Given the description of an element on the screen output the (x, y) to click on. 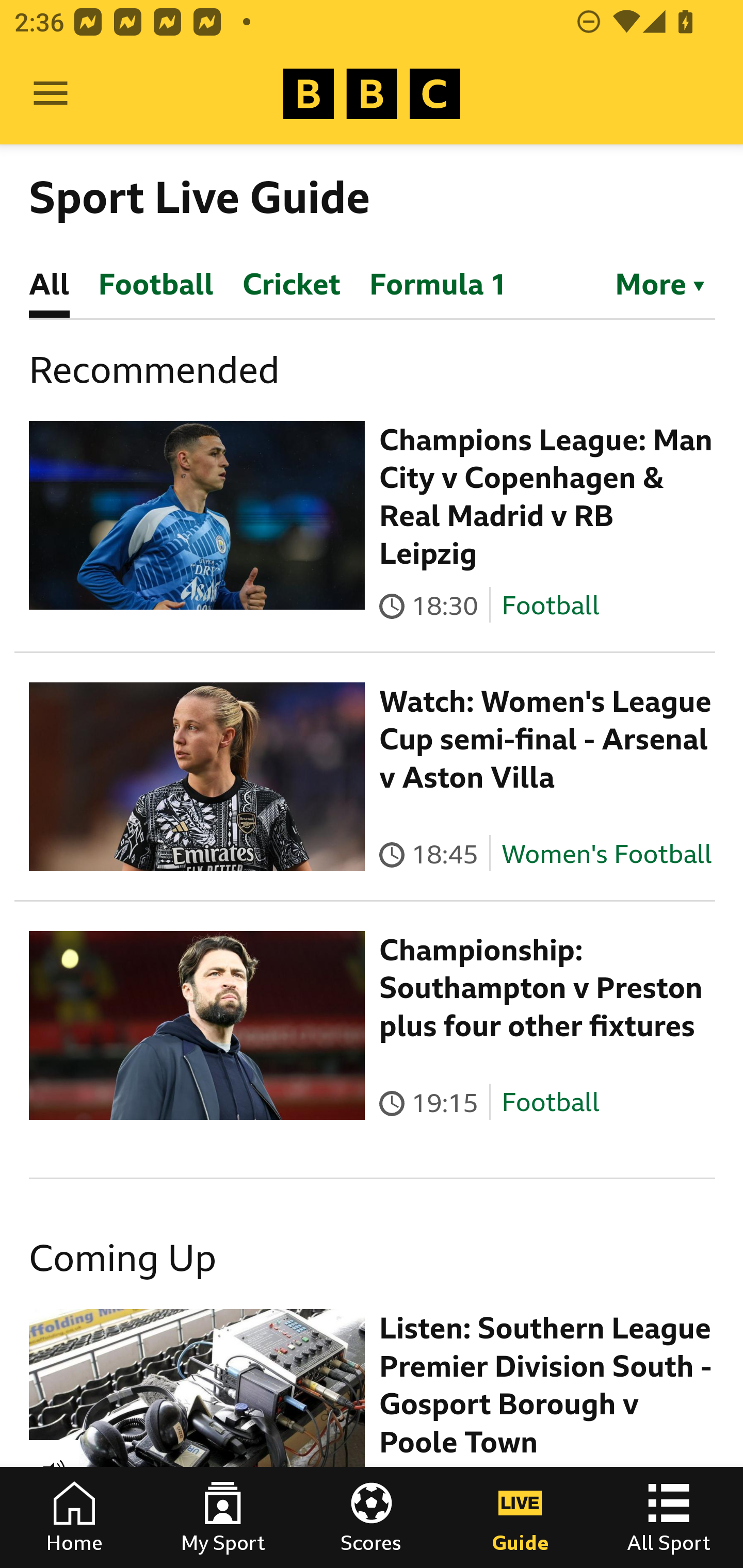
Open Menu (50, 93)
Football (550, 604)
Women's Football (606, 853)
Football (550, 1102)
Home (74, 1517)
My Sport (222, 1517)
Scores (371, 1517)
All Sport (668, 1517)
